Given the description of an element on the screen output the (x, y) to click on. 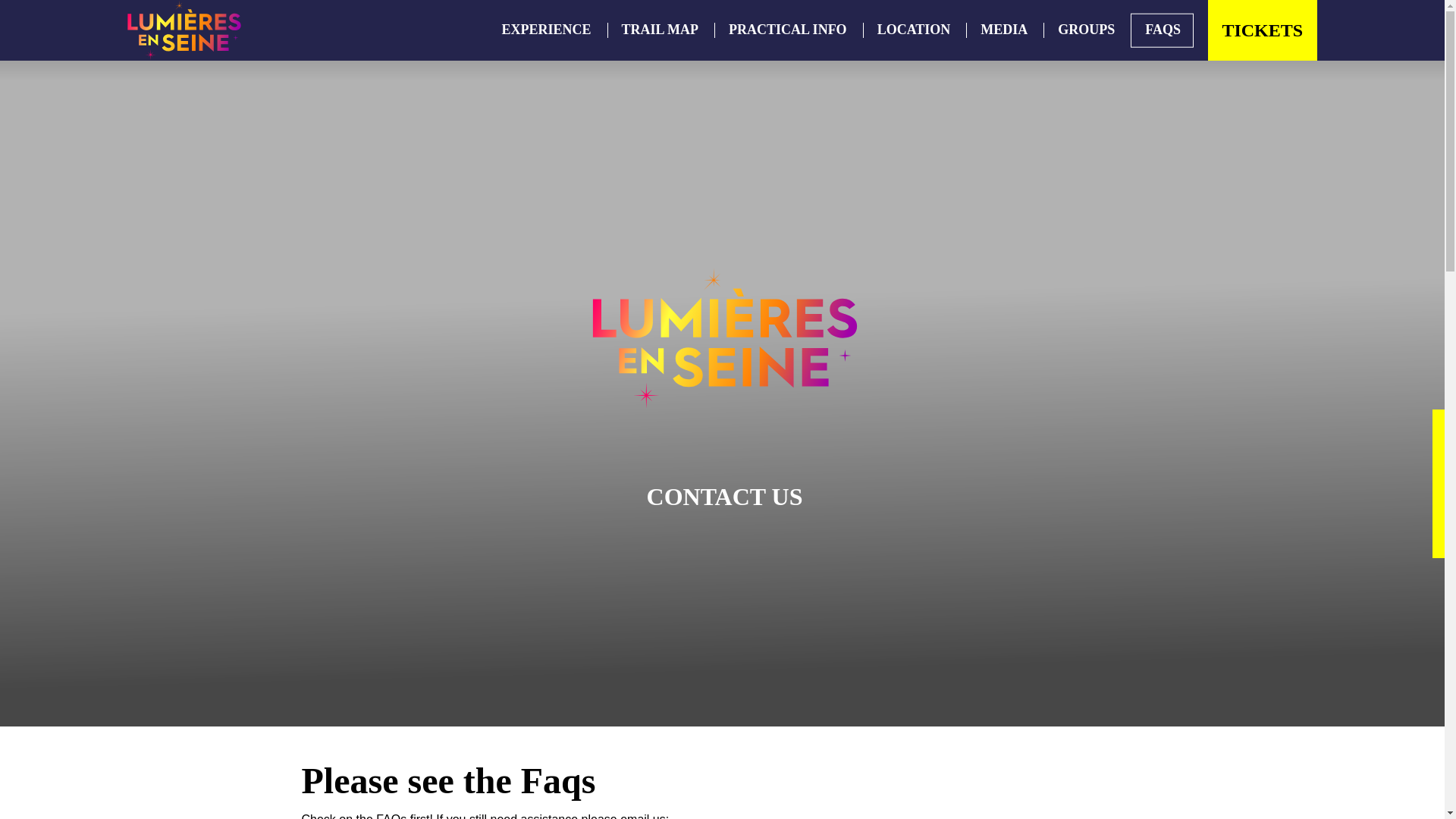
FAQS (1162, 31)
LOCATION (913, 31)
MEDIA (1003, 31)
TRAIL MAP (660, 31)
GROUPS (1085, 31)
EXPERIENCE (546, 31)
TICKETS (1262, 30)
PRACTICAL INFO (787, 31)
